Given the description of an element on the screen output the (x, y) to click on. 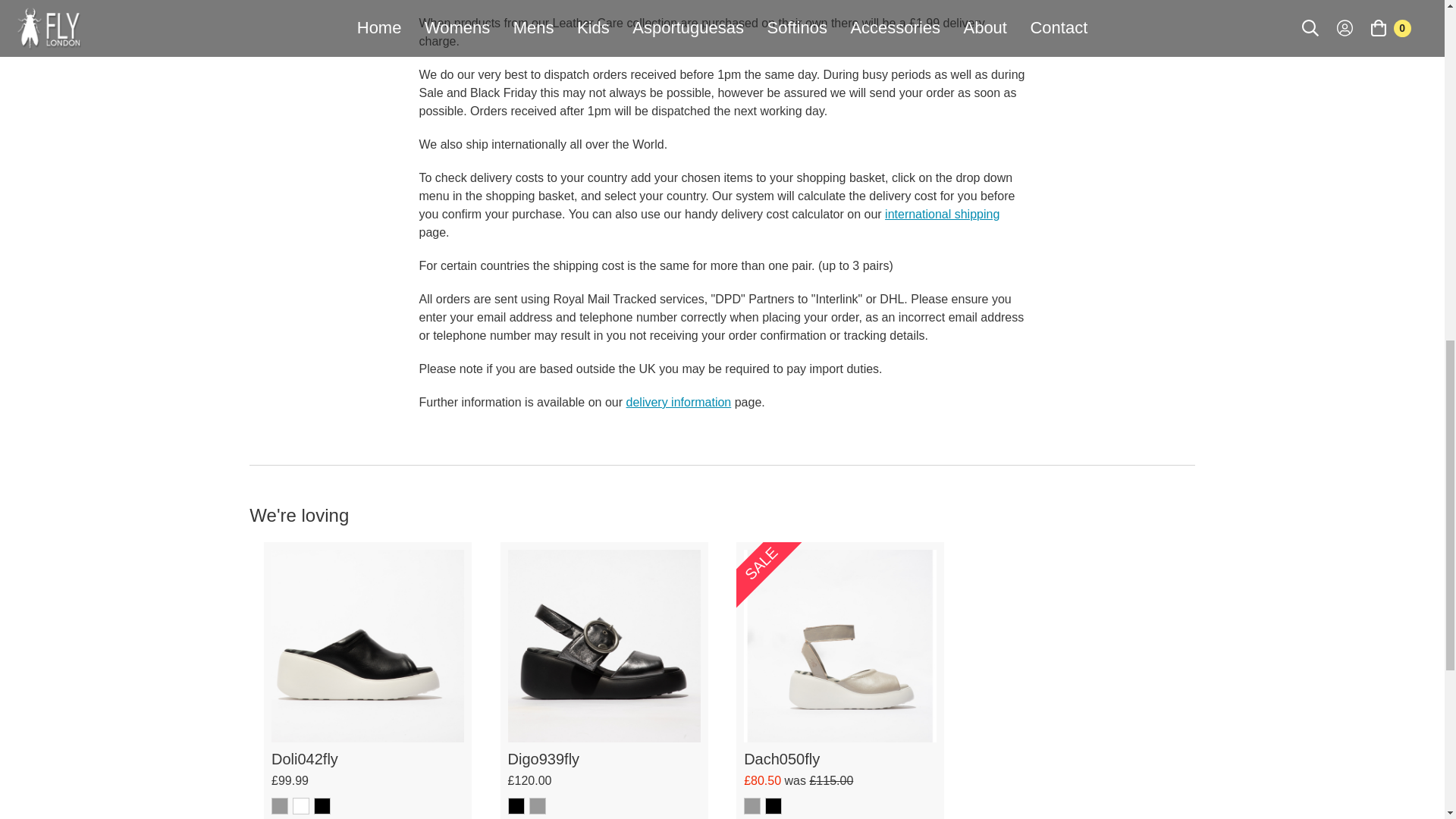
SILVER - P145050000 (752, 805)
BLACK - P145050002 (773, 805)
